Given the description of an element on the screen output the (x, y) to click on. 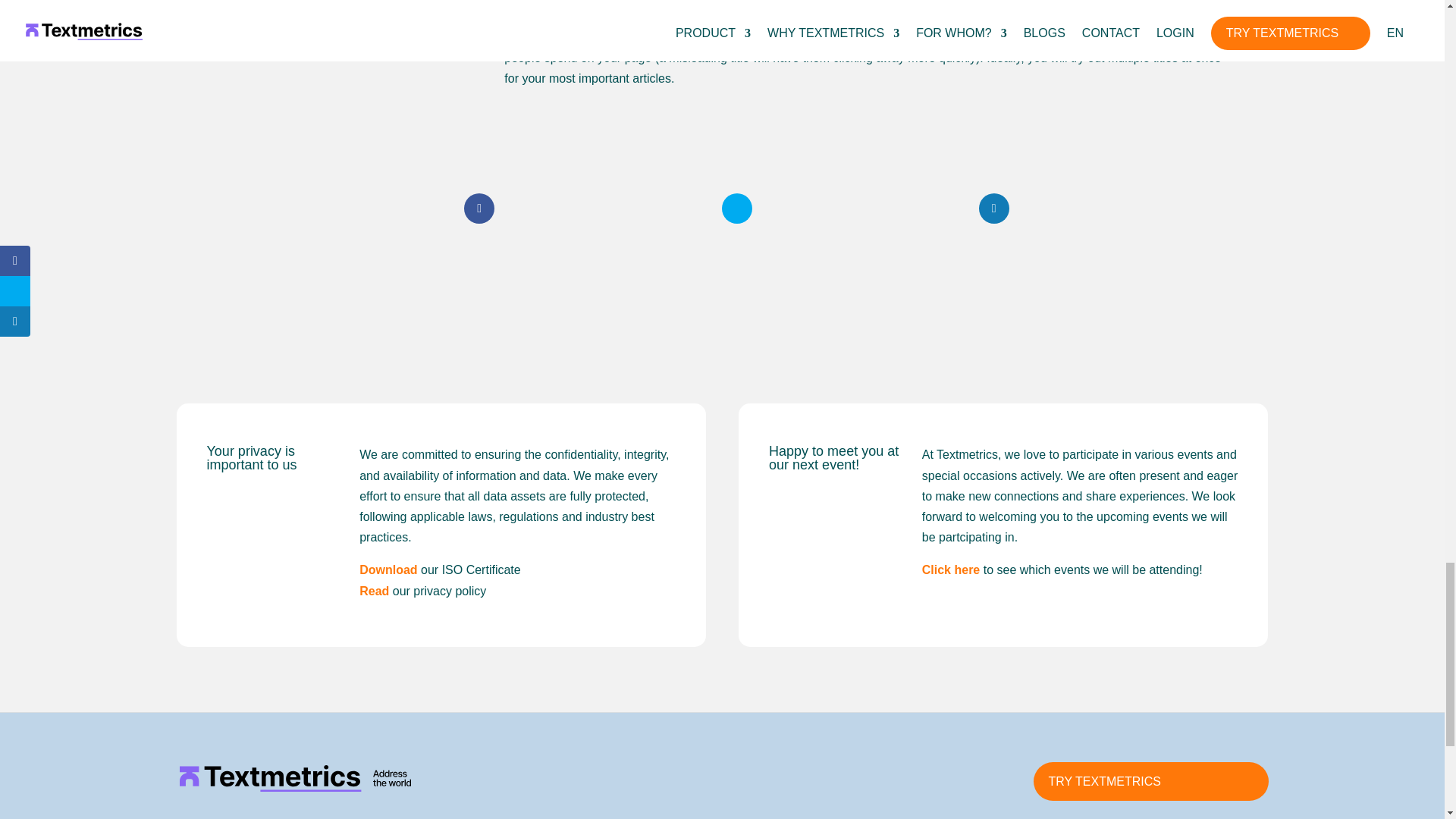
Click here (950, 569)
Download (387, 569)
Read (373, 590)
TRY TEXTMETRICS (1150, 781)
